Given the description of an element on the screen output the (x, y) to click on. 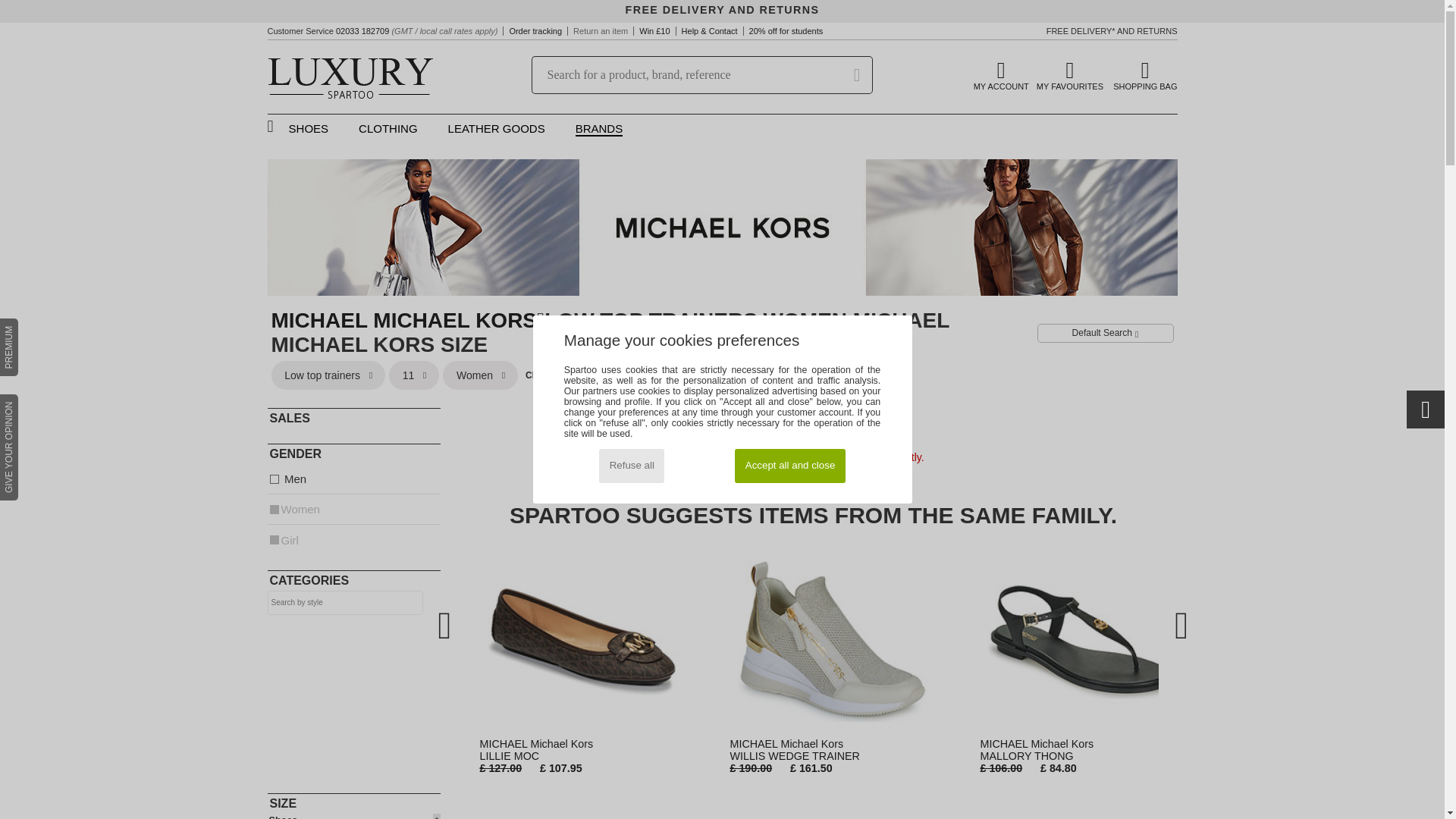
MY FAVOURITES (1069, 74)
MY ACCOUNT (1001, 74)
Refuse all (630, 465)
02033 182709 (362, 31)
CLOTHING (387, 129)
Accept all and close (789, 465)
Return an item (600, 31)
Order tracking (535, 31)
SHOES (308, 129)
BRANDS (599, 129)
LEATHER GOODS (352, 816)
SHOPPING BAG (496, 129)
